Given the description of an element on the screen output the (x, y) to click on. 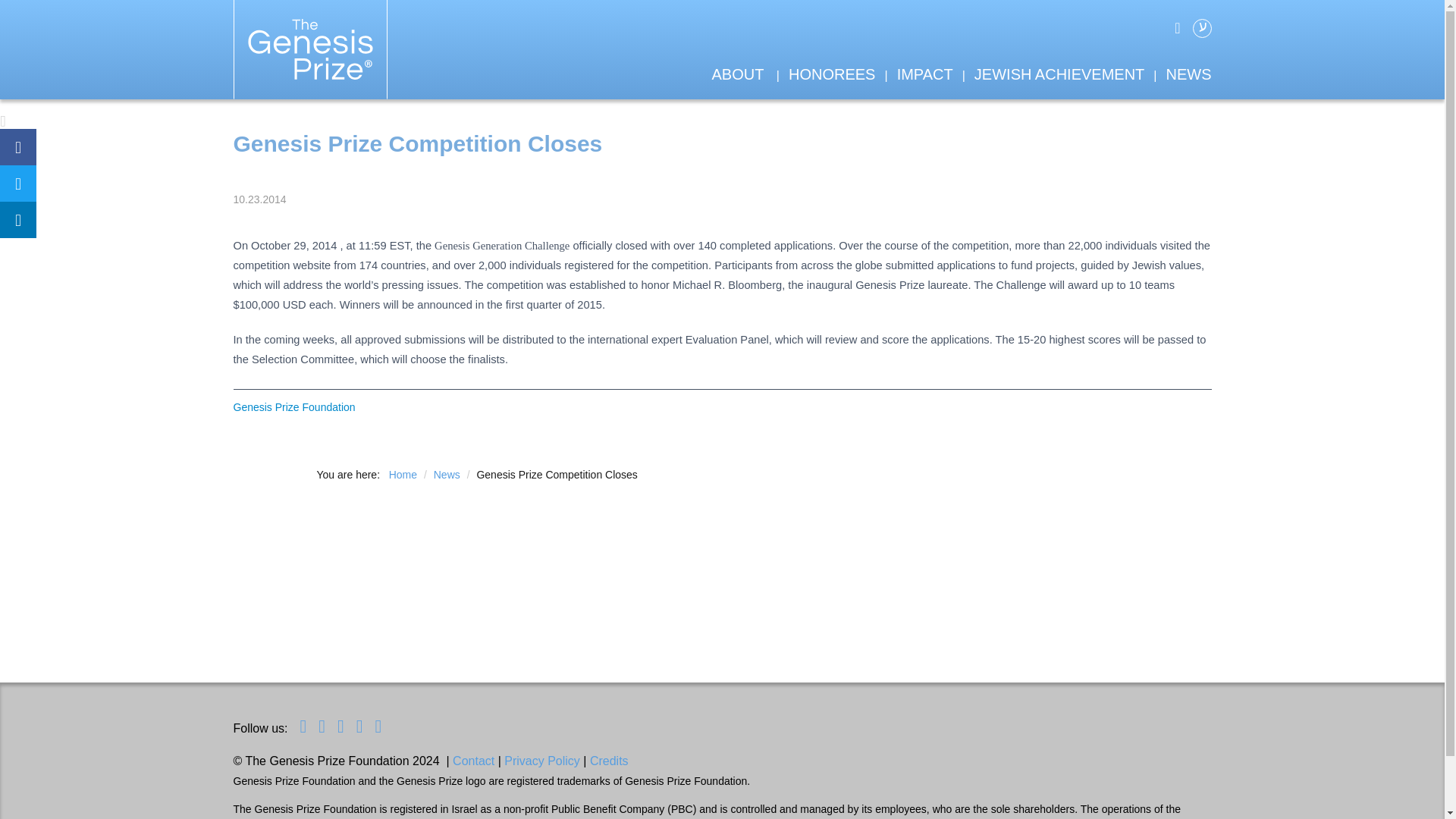
Contact (473, 760)
JEWISH ACHIEVEMENT (1059, 73)
Hebrew (1201, 27)
Privacy Policy (541, 760)
News (448, 474)
Genesis Prize Foundation (293, 407)
NEWS (1188, 73)
Genesis Generation Challenge (501, 245)
ABOUT (736, 73)
IMPACT (924, 73)
Home (404, 474)
Credits (608, 760)
HONOREES (832, 73)
